Given the description of an element on the screen output the (x, y) to click on. 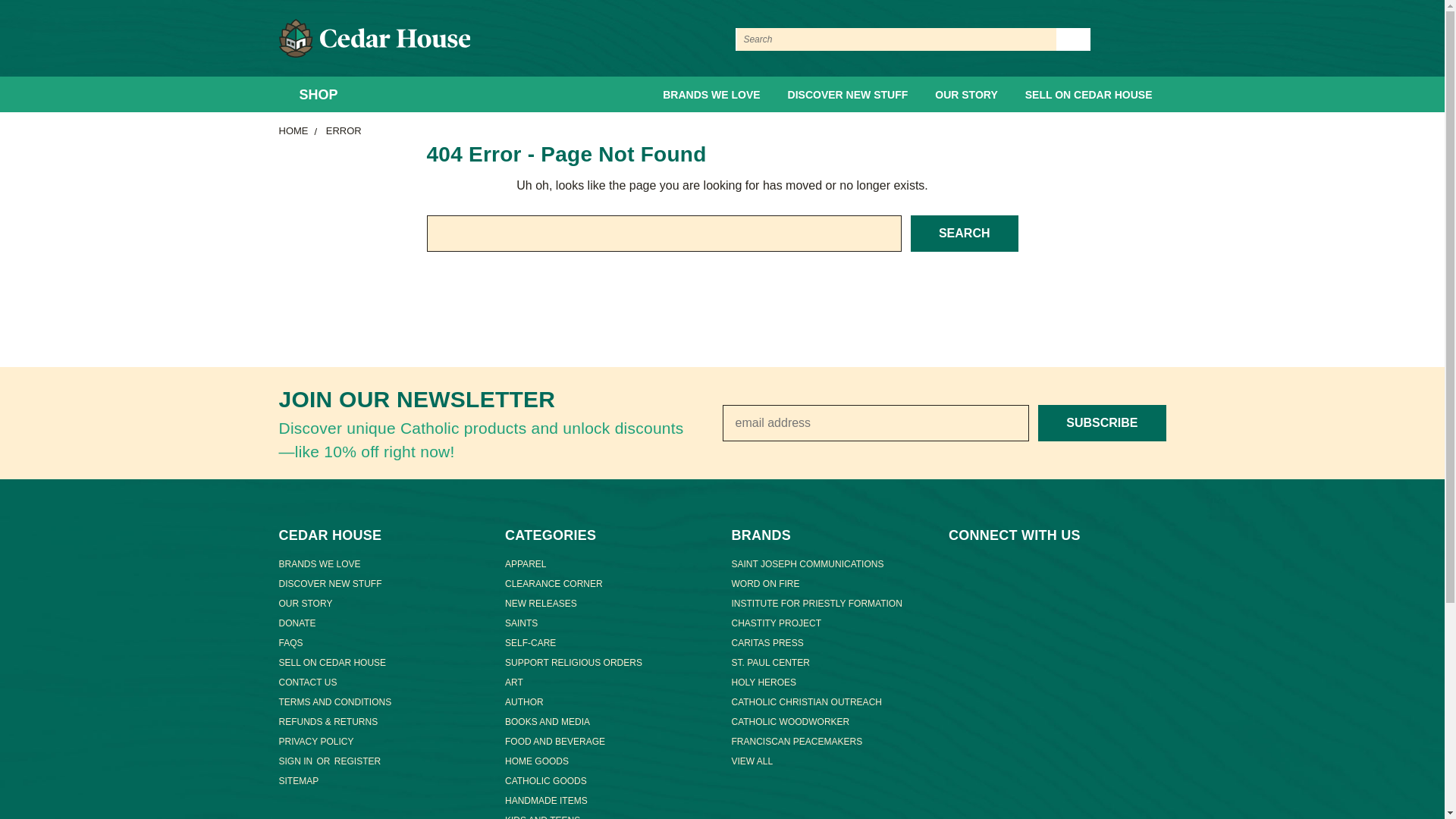
Submit Search (1074, 38)
User Toolbox (1108, 38)
SHOP (315, 94)
Cart (1161, 38)
Gift Certificates (1135, 38)
Search (964, 233)
Subscribe (1102, 422)
